Given the description of an element on the screen output the (x, y) to click on. 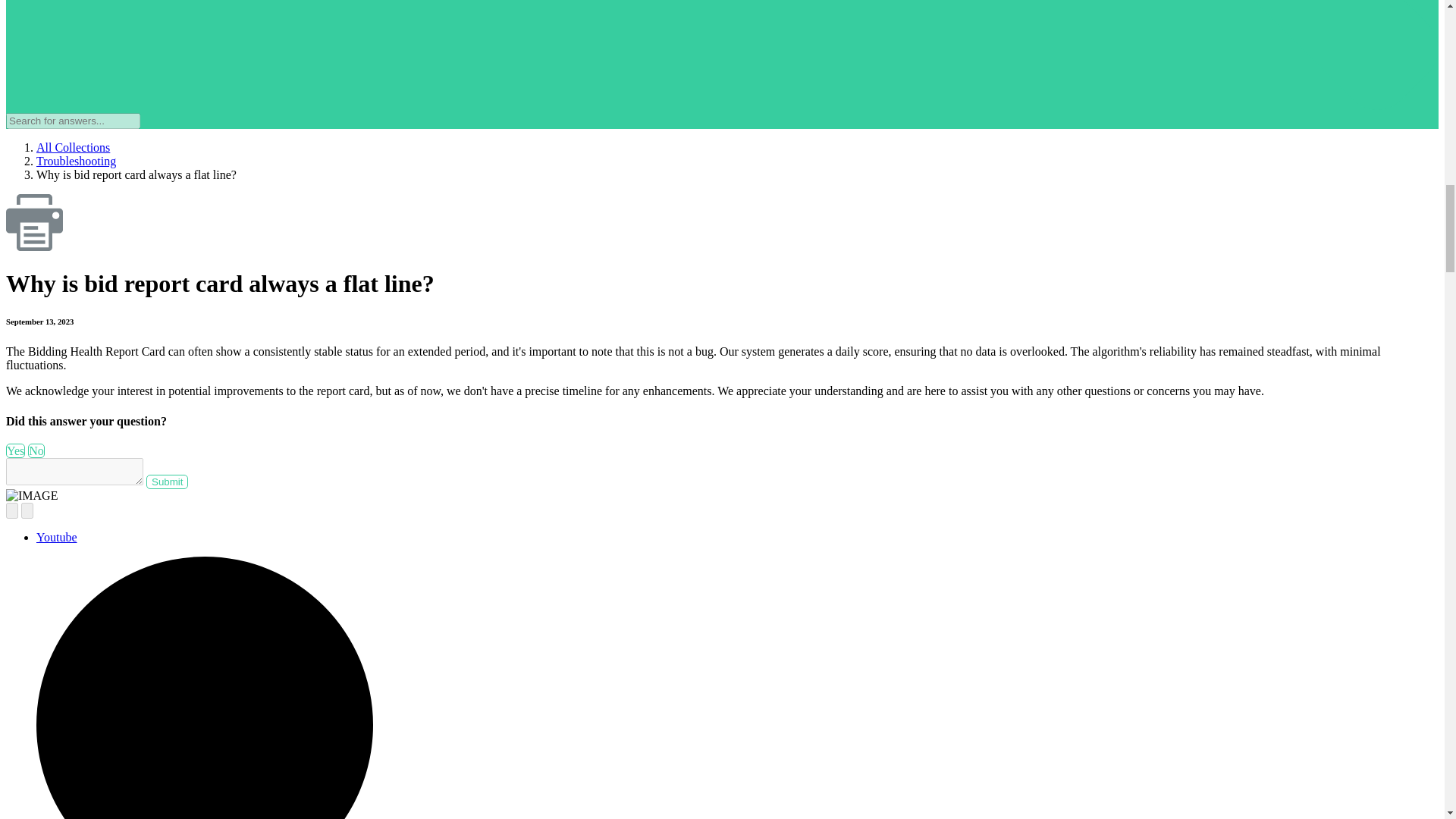
Youtube (56, 536)
Yes (14, 450)
Submit (167, 481)
All Collections (73, 146)
Troubleshooting (76, 160)
No (36, 450)
